Given the description of an element on the screen output the (x, y) to click on. 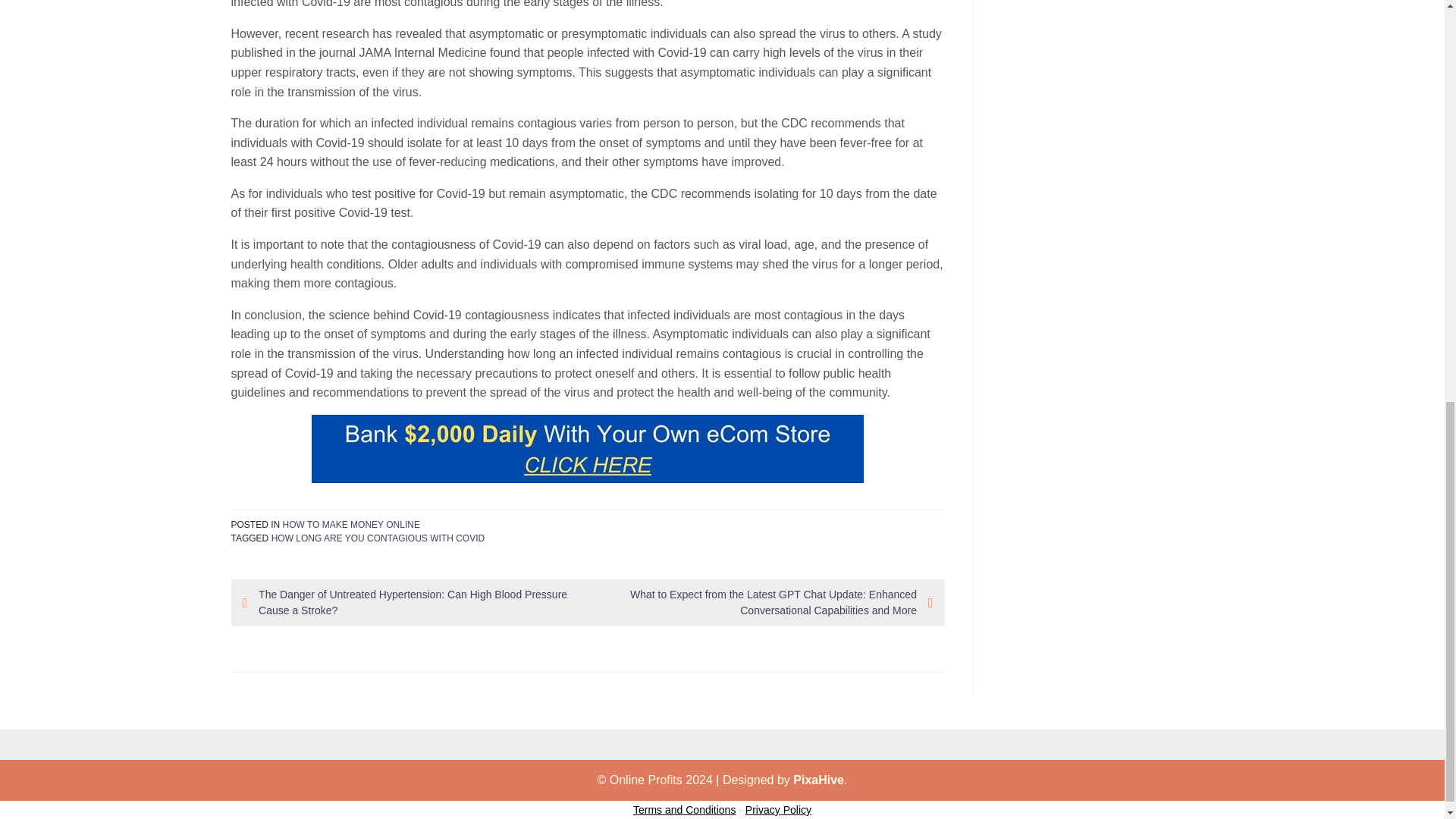
Terms and Conditions (684, 809)
HOW LONG ARE YOU CONTAGIOUS WITH COVID (377, 538)
HOW TO MAKE MONEY ONLINE (351, 524)
Privacy Policy (777, 809)
PixaHive (818, 779)
